Given the description of an element on the screen output the (x, y) to click on. 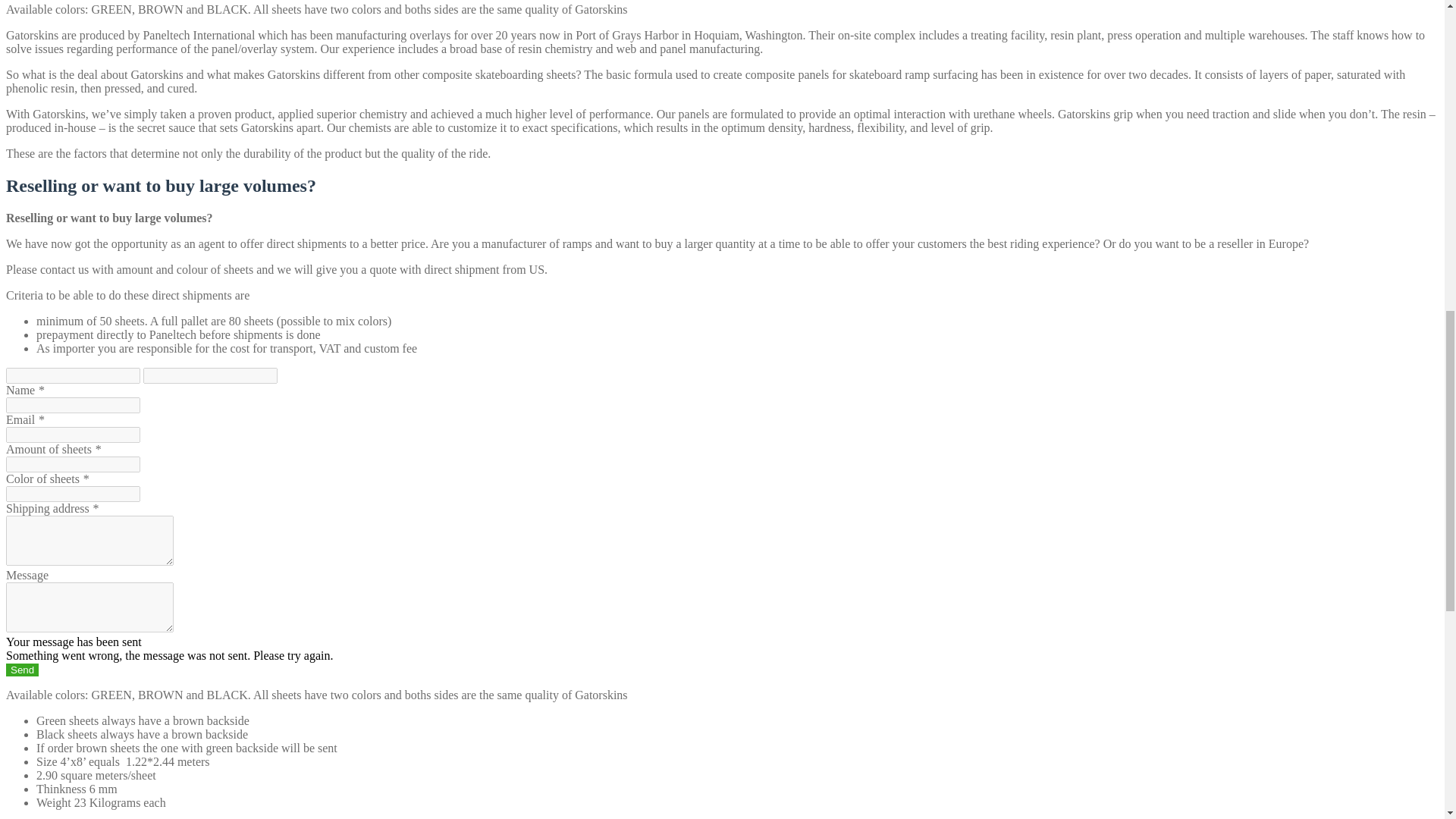
Send (22, 669)
